Given the description of an element on the screen output the (x, y) to click on. 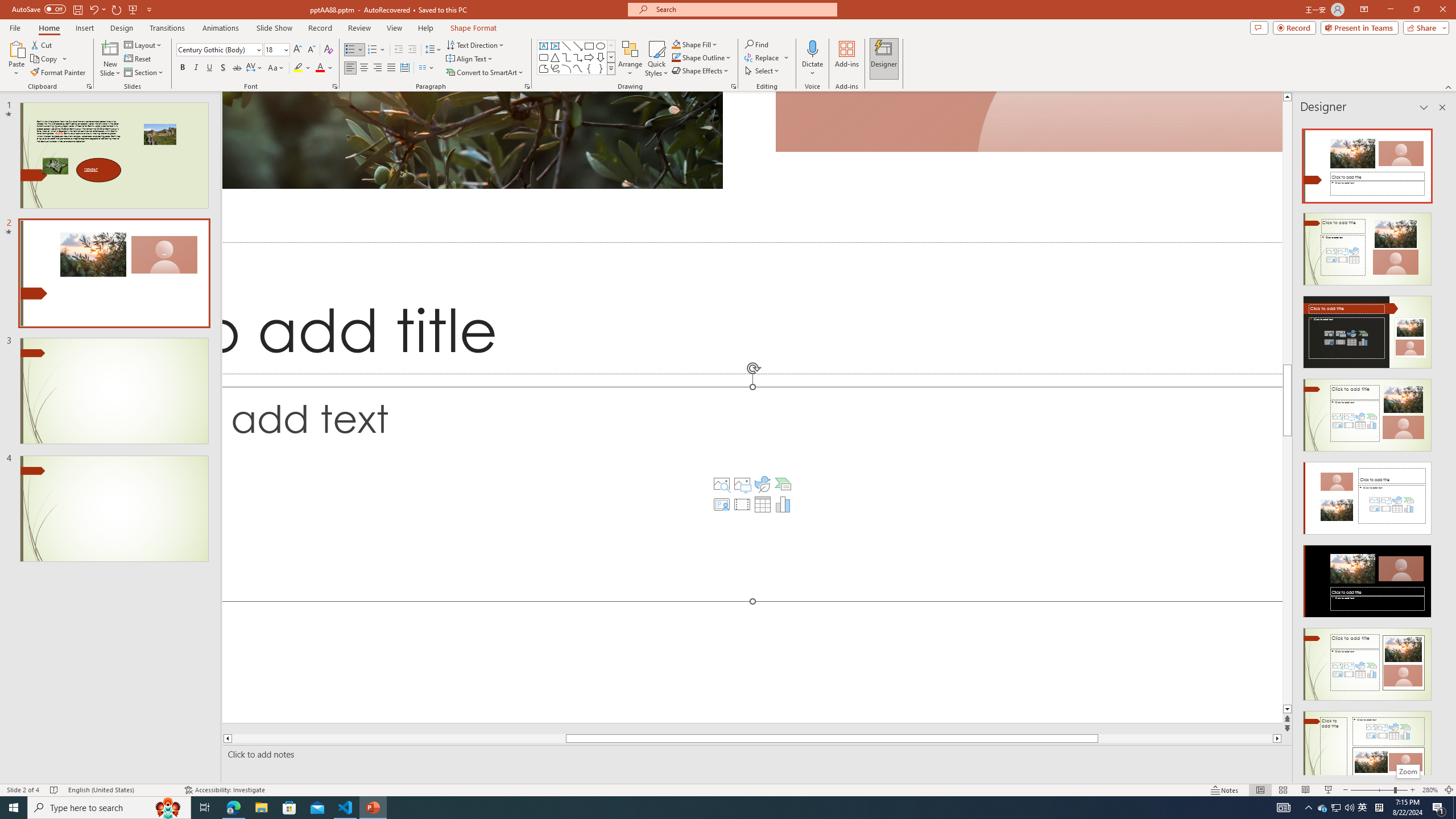
Decrease Font Size (310, 49)
Share (1423, 27)
Character Spacing (254, 67)
Zoom to Fit  (1449, 790)
AutoSave (38, 9)
Text Highlight Color (302, 67)
Close pane (1441, 107)
Shape Effects (700, 69)
Zoom 280% (1430, 790)
Line Spacing (433, 49)
Center (363, 67)
New Slide (110, 48)
Paragraph... (526, 85)
